Given the description of an element on the screen output the (x, y) to click on. 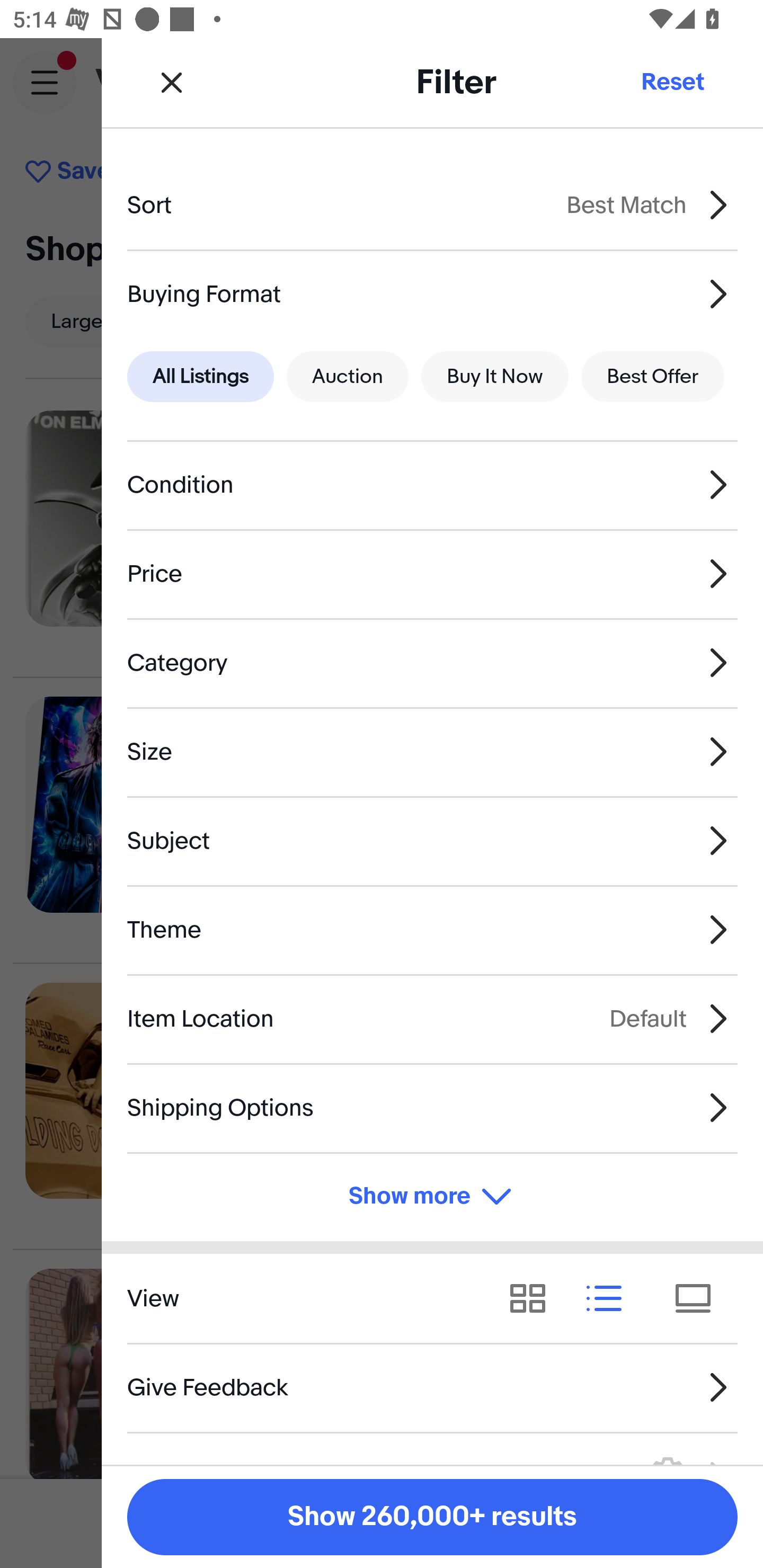
Close Filter (171, 81)
Reset (672, 81)
Buying Format (432, 293)
All Listings (200, 376)
Auction (347, 376)
Buy It Now (494, 376)
Best Offer (652, 376)
Condition (432, 484)
Price (432, 573)
Category (432, 662)
Size (432, 751)
Subject (432, 840)
Theme (432, 929)
Item Location Default (432, 1018)
Shipping Options (432, 1107)
Show more (432, 1196)
View results as grid (533, 1297)
View results as list (610, 1297)
View results as tiles (699, 1297)
